Given the description of an element on the screen output the (x, y) to click on. 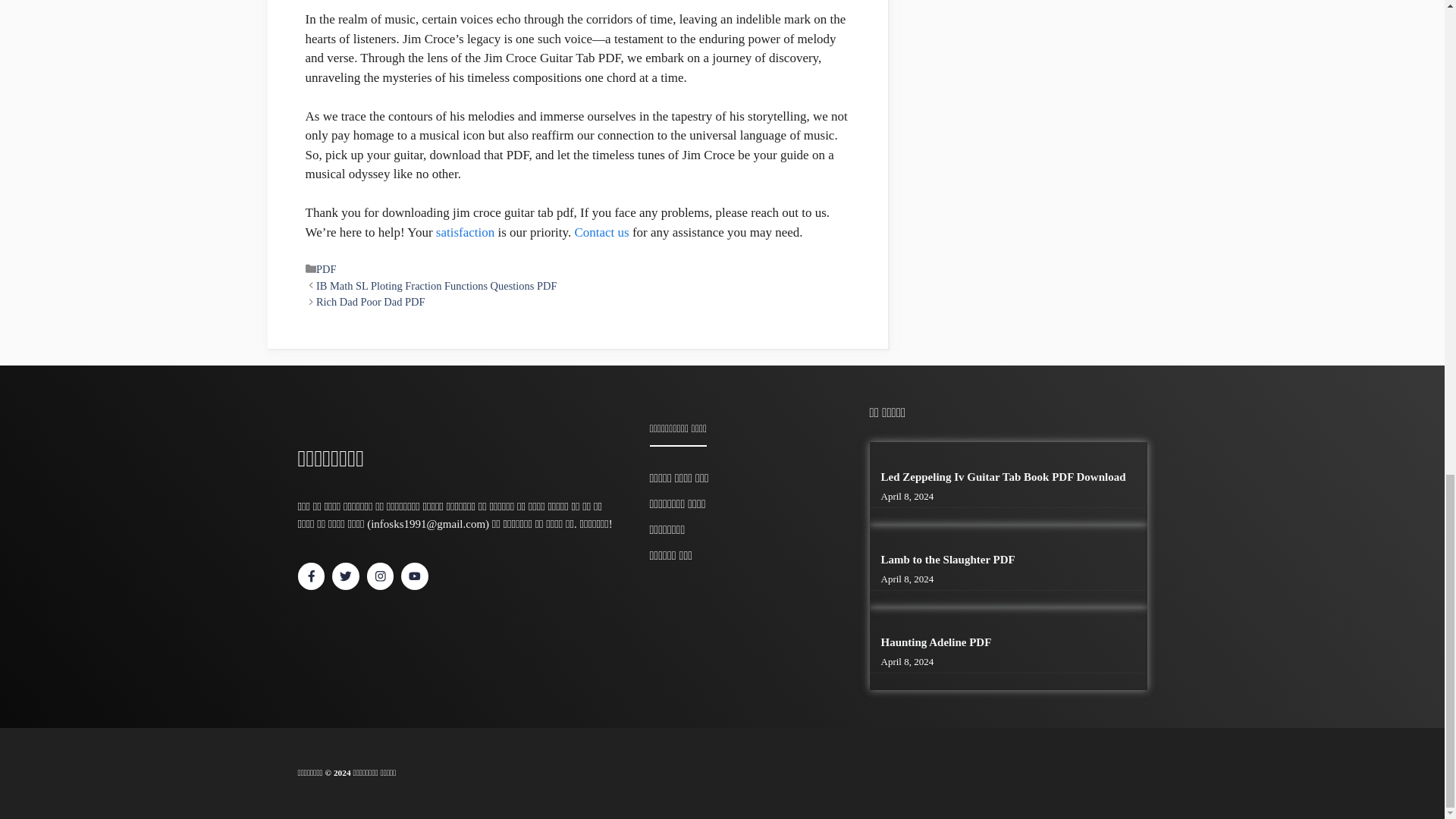
Rich Dad Poor Dad PDF (370, 301)
satisfaction (465, 232)
Led Zeppeling Iv Guitar Tab Book PDF Download (1002, 476)
Scroll back to top (1406, 399)
IB Math SL Ploting Fraction Functions Questions PDF (436, 285)
Contact us (600, 232)
PDF (325, 268)
Haunting Adeline PDF (935, 642)
Lamb to the Slaughter PDF (947, 559)
